Given the description of an element on the screen output the (x, y) to click on. 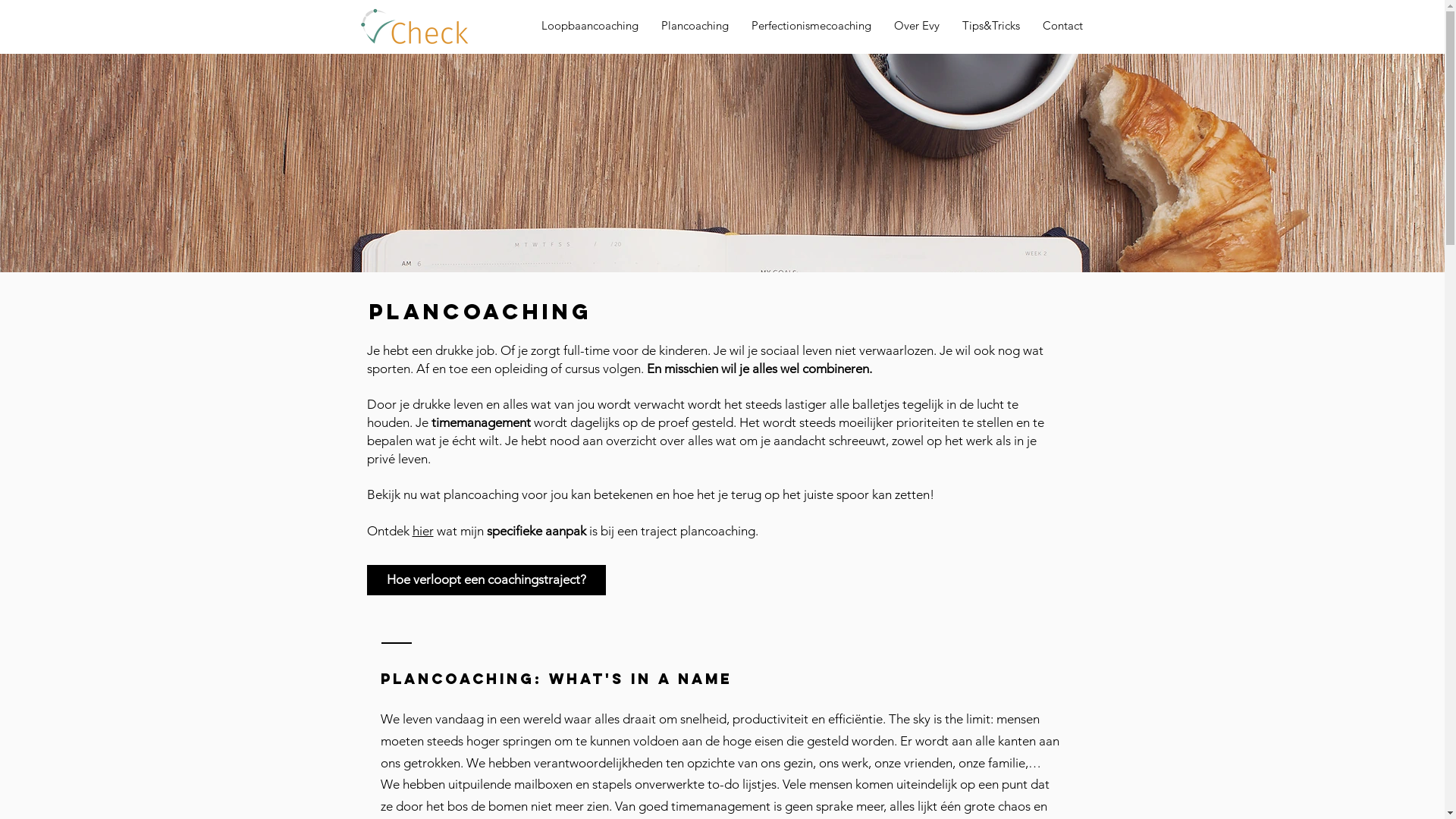
Contact Element type: text (1062, 25)
Hoe verloopt een coachingstraject? Element type: text (486, 579)
Tips&Tricks Element type: text (990, 25)
Loopbaancoaching Element type: text (589, 25)
plancoaching Element type: text (479, 494)
hier Element type: text (422, 530)
Over Evy Element type: text (916, 25)
Perfectionismecoaching Element type: text (811, 25)
